Given the description of an element on the screen output the (x, y) to click on. 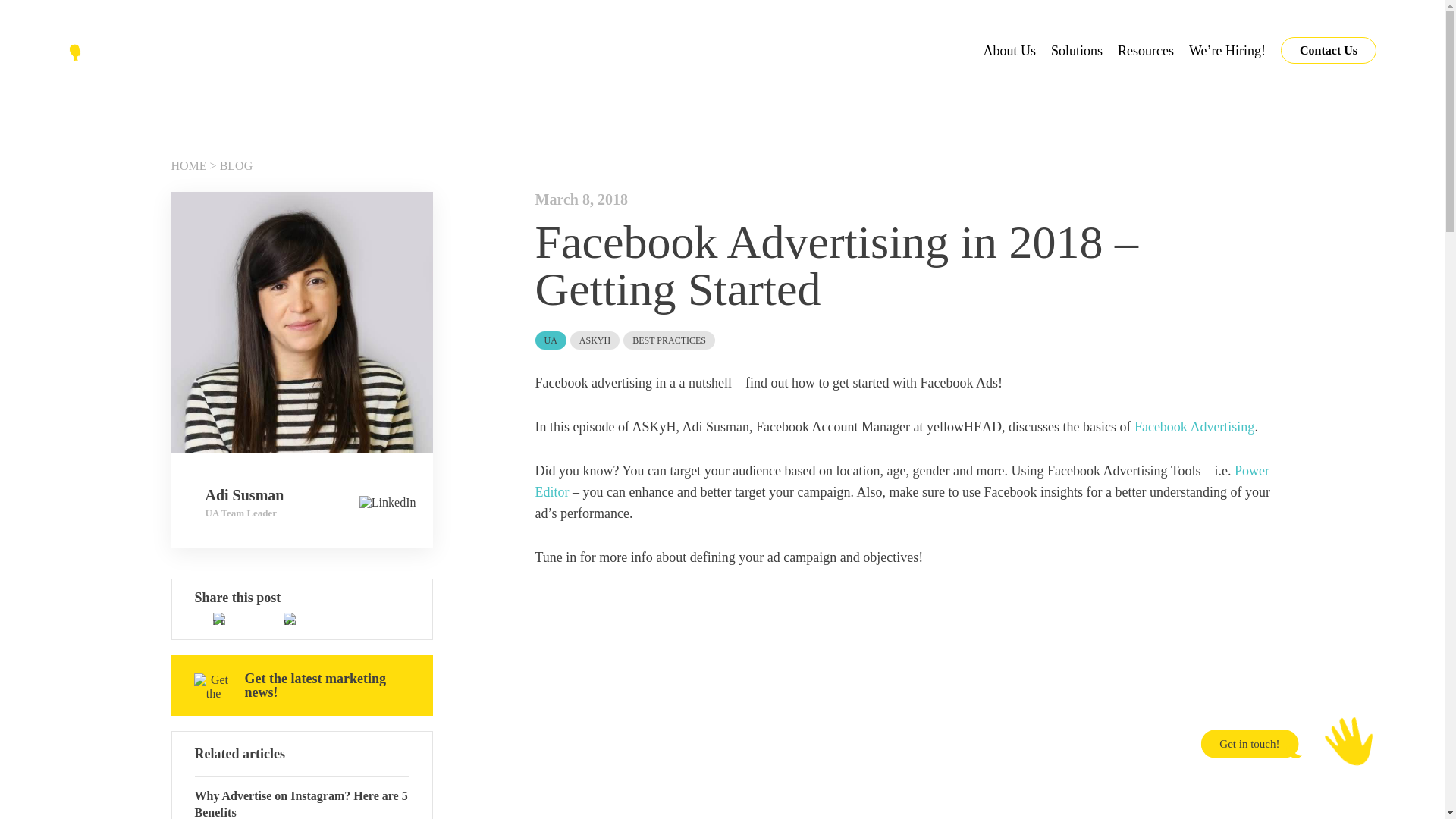
About Us (1008, 50)
Whatsapp (289, 618)
LINKEDIN (218, 618)
Solutions (1076, 50)
Resources (1145, 50)
Contact Us (1328, 49)
